Given the description of an element on the screen output the (x, y) to click on. 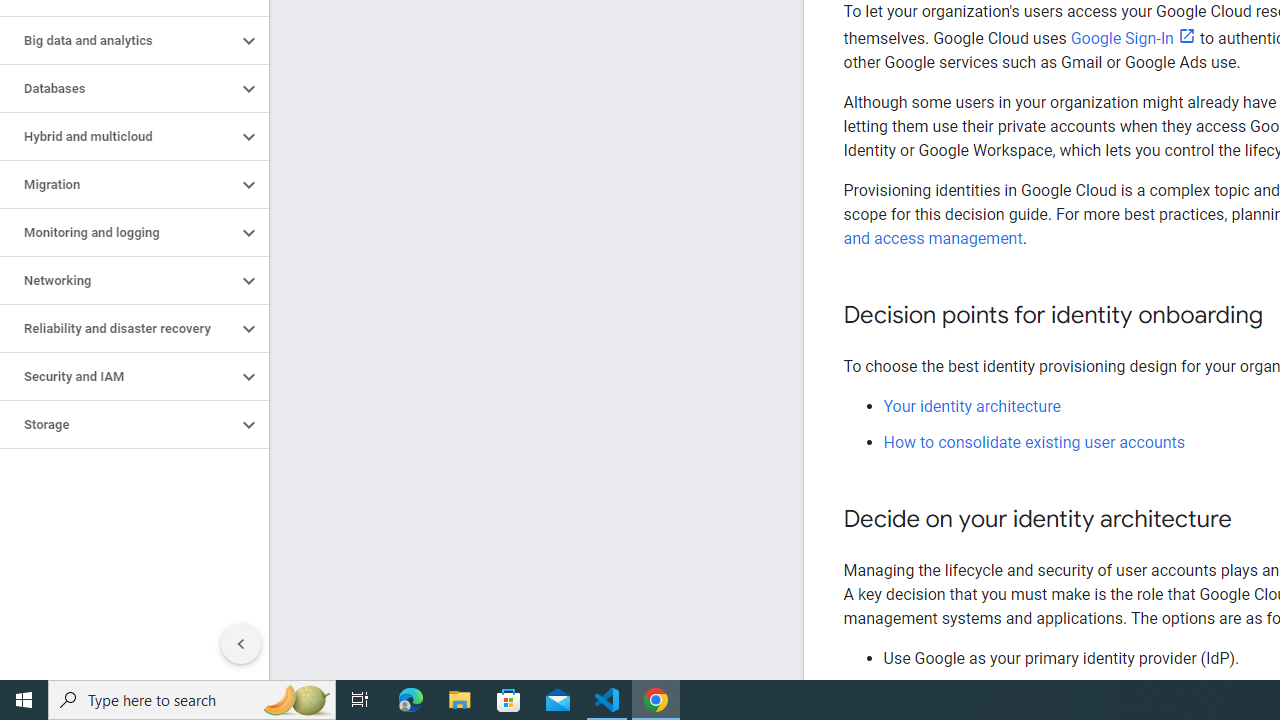
Storage (118, 425)
Migration (118, 184)
Reliability and disaster recovery (118, 328)
Networking (118, 281)
Google Sign-In (1132, 38)
Databases (118, 88)
Hybrid and multicloud (118, 137)
Big data and analytics (118, 40)
How to consolidate existing user accounts (1034, 442)
Hide side navigation (241, 643)
Security and IAM (118, 376)
Monitoring and logging (118, 232)
Your identity architecture (972, 406)
